Given the description of an element on the screen output the (x, y) to click on. 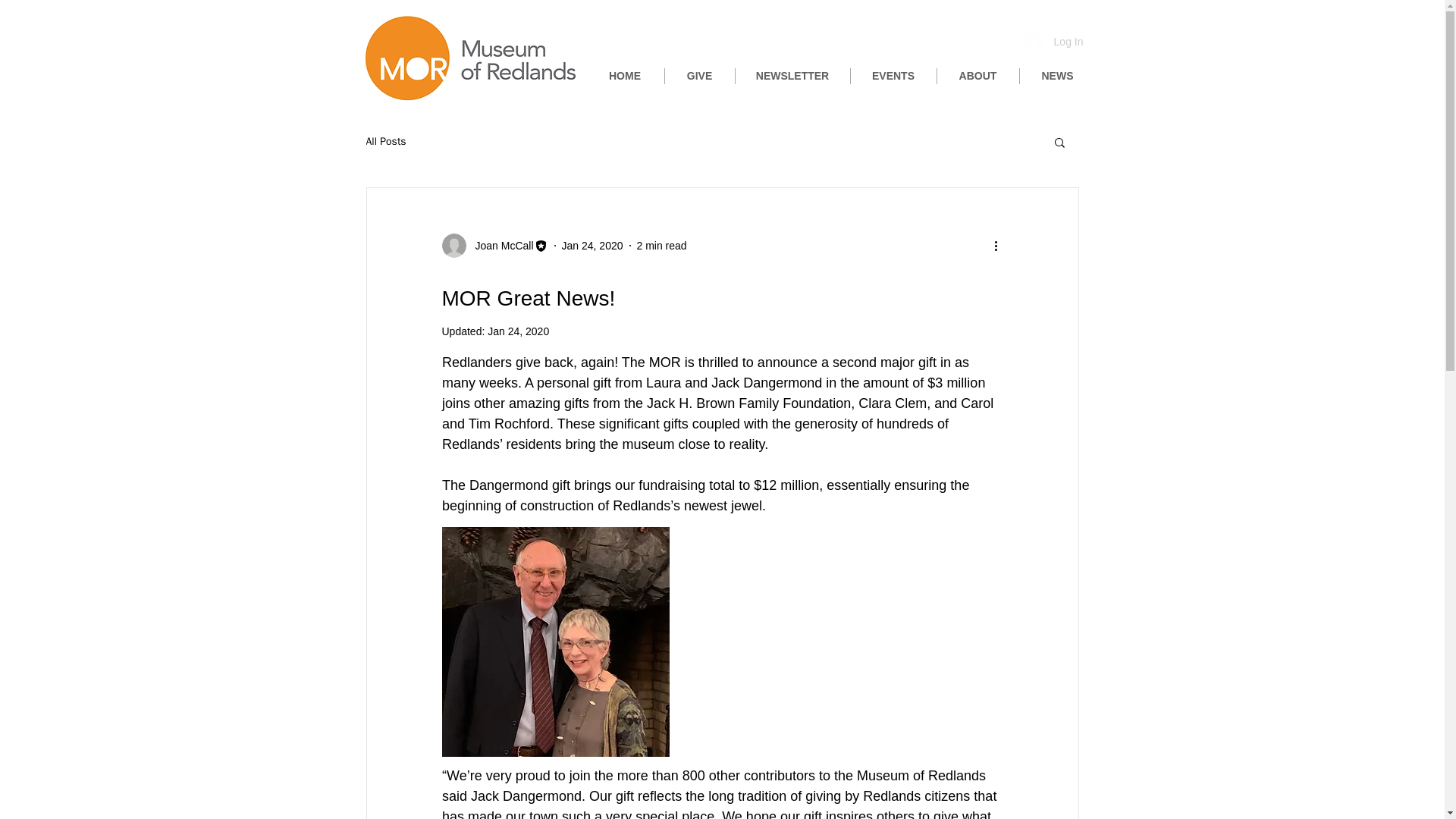
2 min read (662, 245)
EVENTS (893, 75)
HOME (624, 75)
ABOUT (978, 75)
GIVE (698, 75)
NEWSLETTER (792, 75)
Jan 24, 2020 (592, 245)
Joan McCall (494, 245)
Joan McCall (498, 245)
Jan 24, 2020 (517, 331)
NEWS (1056, 75)
Log In (1053, 41)
All Posts (385, 141)
